Given the description of an element on the screen output the (x, y) to click on. 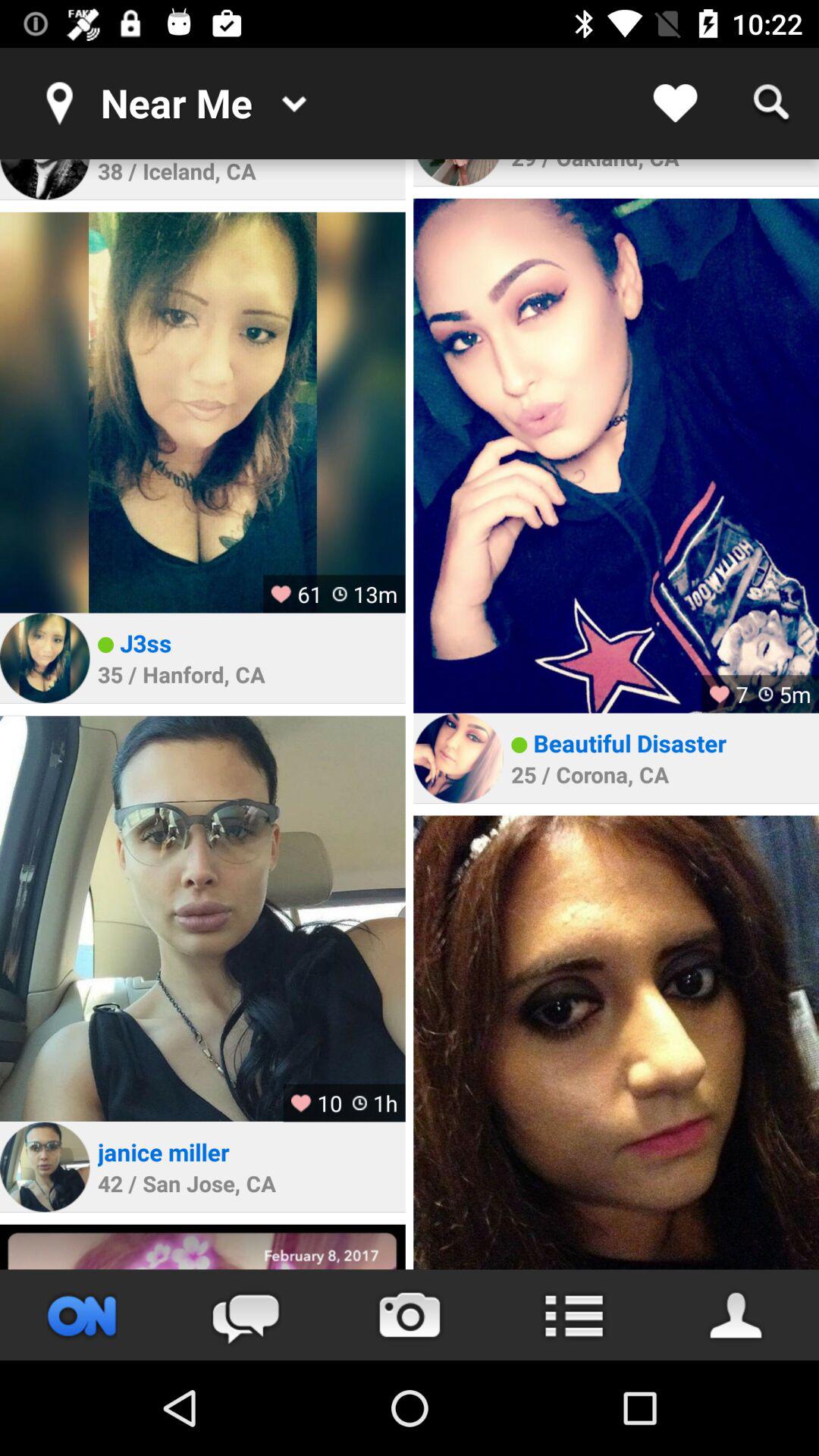
take a new photo (409, 1315)
